Given the description of an element on the screen output the (x, y) to click on. 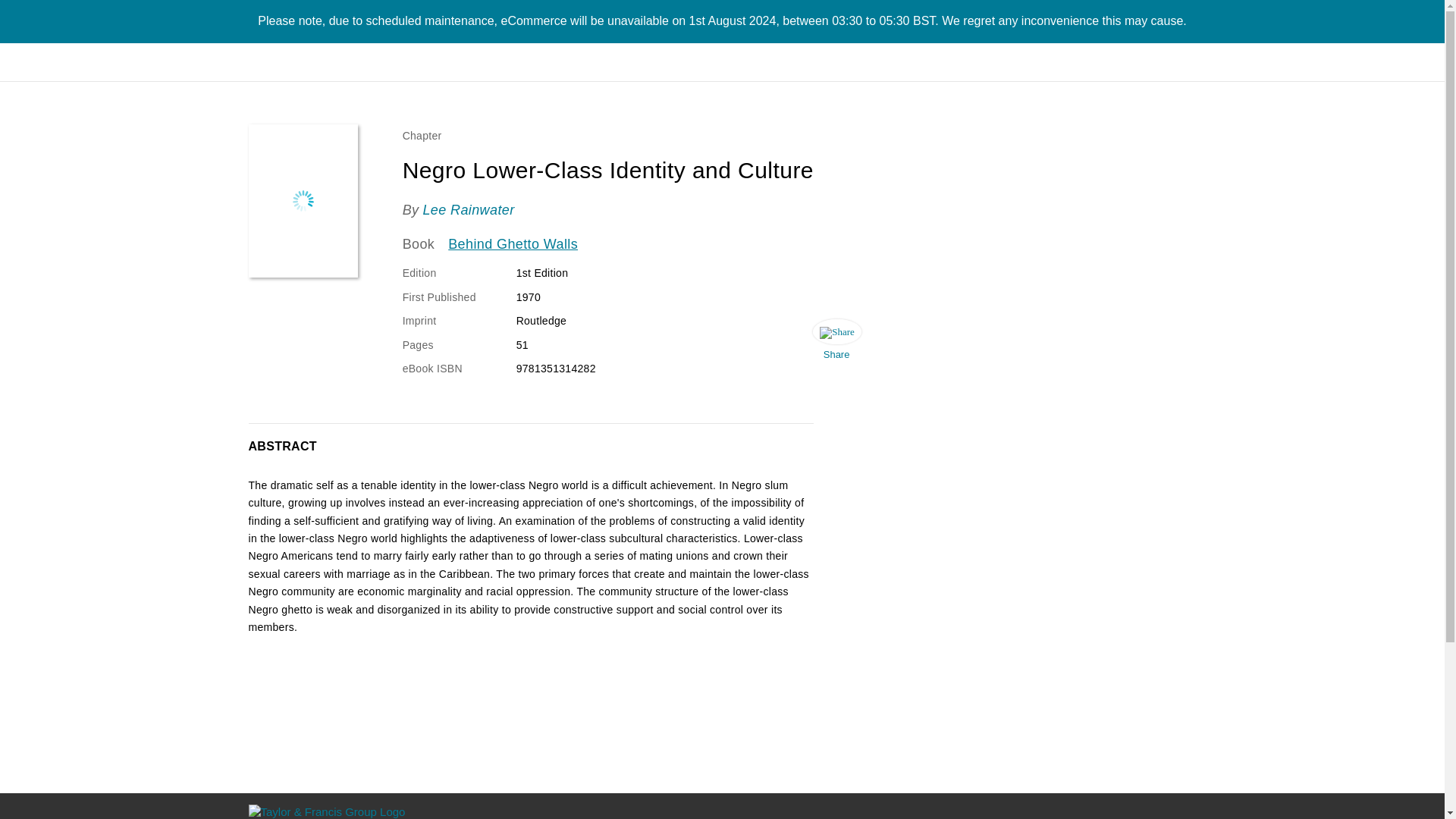
Share (836, 343)
Lee Rainwater (467, 209)
Behind Ghetto Walls (513, 244)
